Given the description of an element on the screen output the (x, y) to click on. 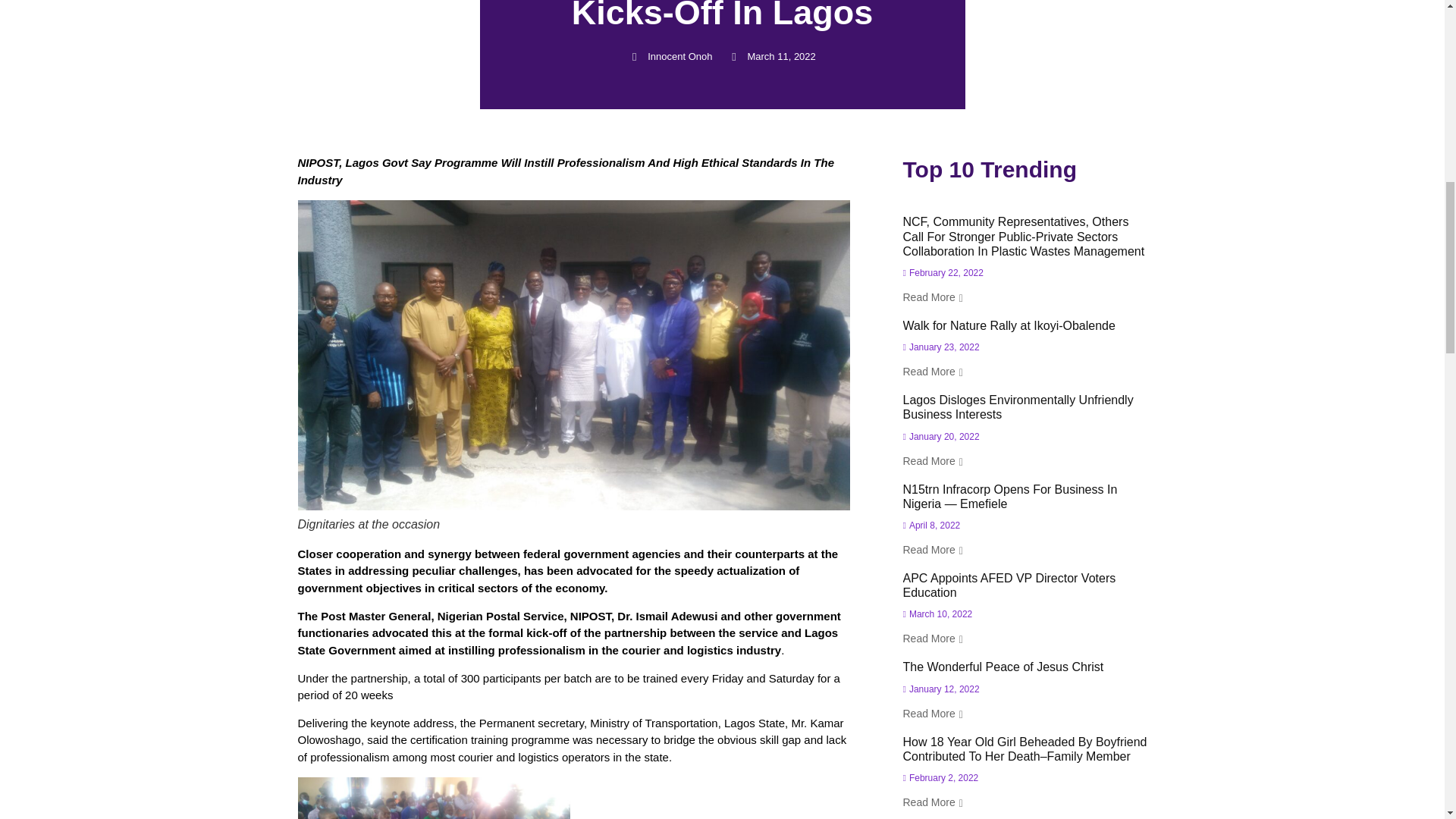
March 11, 2022 (771, 56)
The Wonderful Peace of Jesus Christ (1002, 666)
Innocent Onoh (669, 56)
Read More (932, 372)
Lagos Disloges Environmentally Unfriendly Business Interests (1017, 406)
Walk for Nature Rally at Ikoyi-Obalende (1008, 325)
Read More (932, 461)
Read More (932, 639)
APC Appoints AFED VP Director Voters Education (1008, 584)
Read More (932, 713)
Lagos Disloges Environmentally Unfriendly Business Interests (1017, 406)
Read More (932, 297)
Walk for Nature Rally at Ikoyi-Obalende (1008, 325)
